Given the description of an element on the screen output the (x, y) to click on. 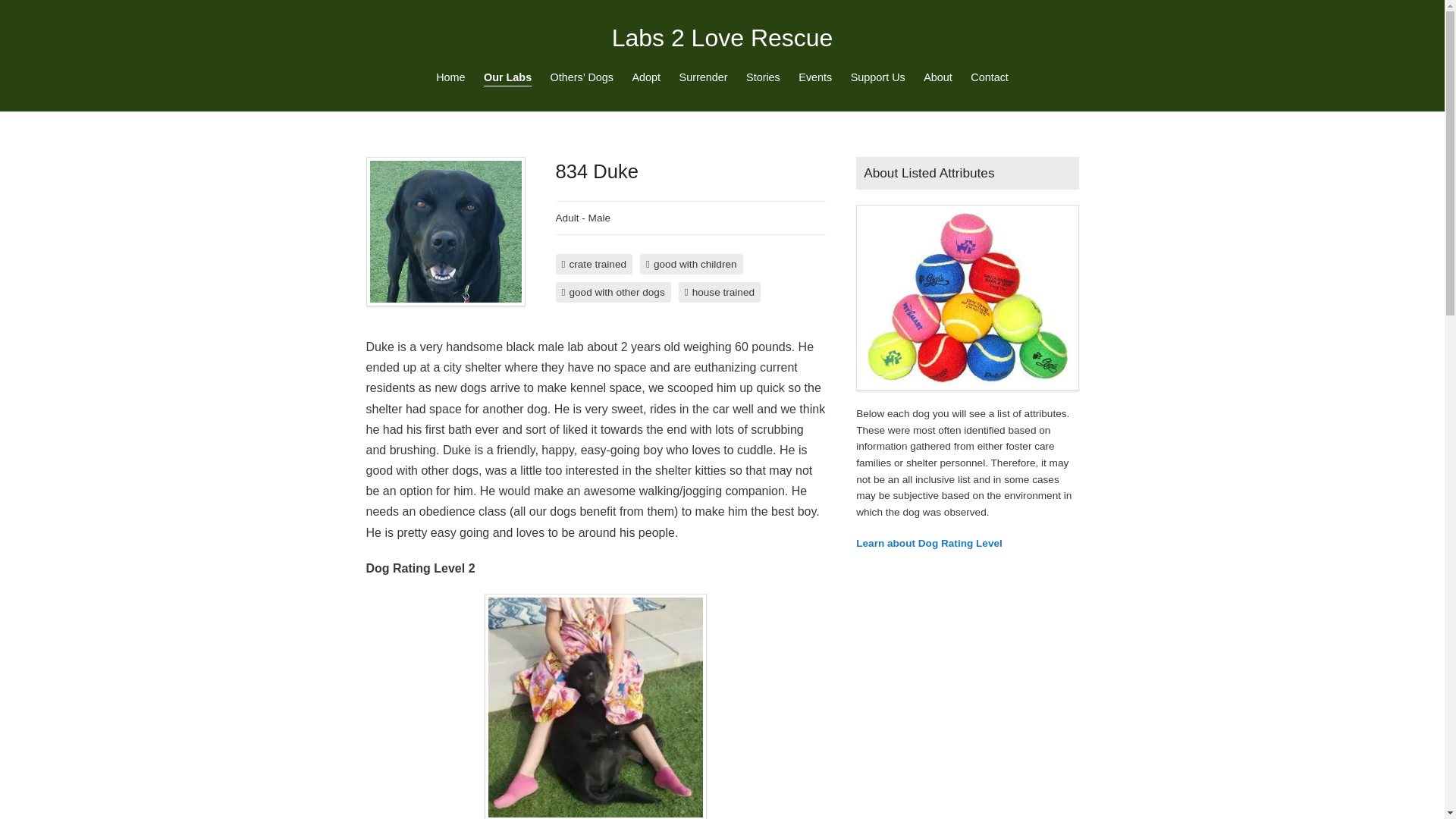
Our Labs (507, 77)
Labs 2 Love Rescue (721, 38)
About (937, 77)
Events (815, 77)
Stories (762, 77)
Adopt (646, 77)
Support Us (877, 77)
Learn about Dog Rating Level (929, 542)
Surrender (703, 77)
Home (449, 77)
